Given the description of an element on the screen output the (x, y) to click on. 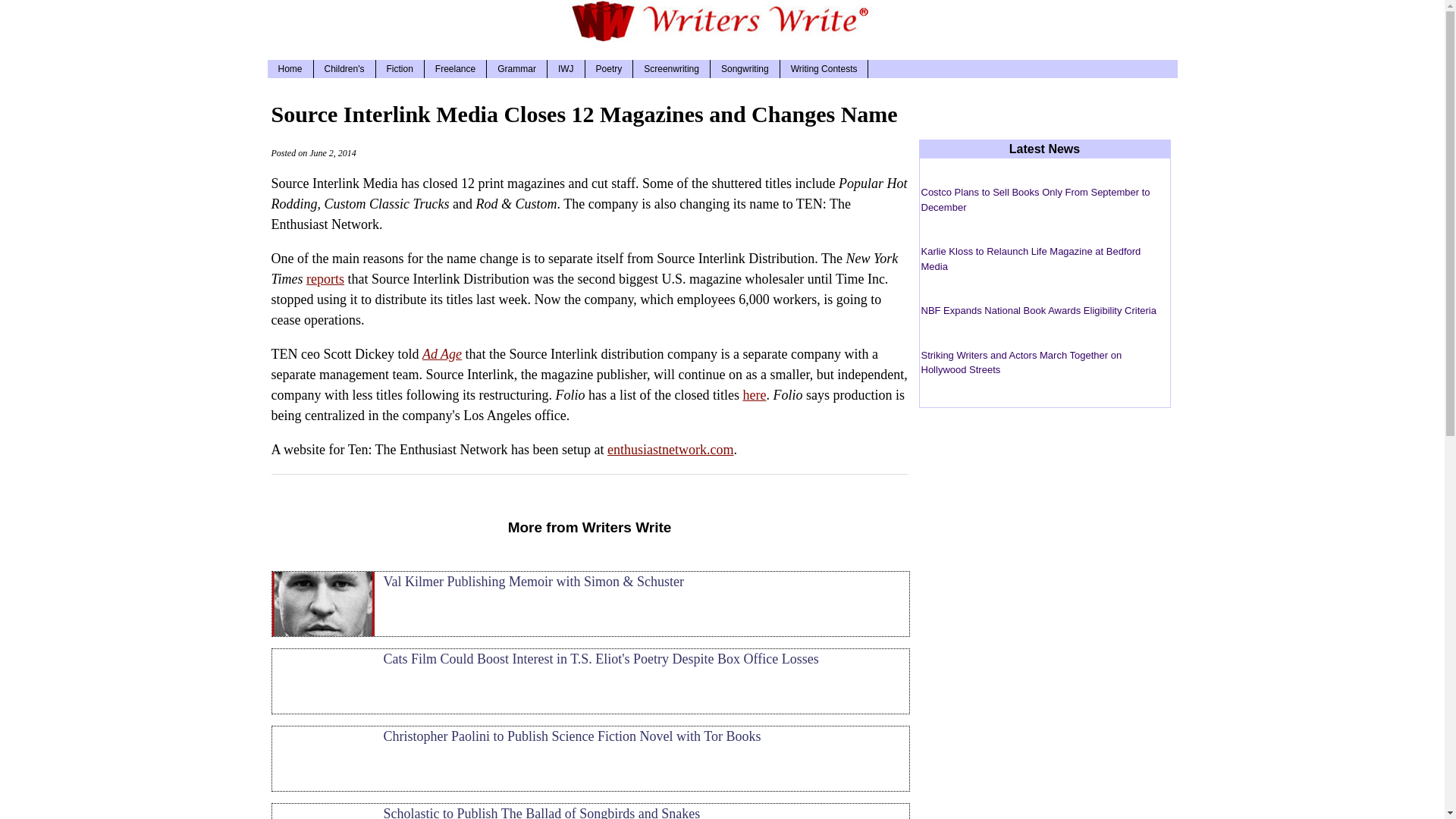
Fiction (400, 68)
Ad Age (441, 353)
here (753, 394)
NBF Expands National Book Awards Eligibility Criteria (1038, 310)
Freelance (455, 68)
enthusiastnetwork.com (670, 449)
Writing Contests (824, 68)
IWJ (566, 68)
